Given the description of an element on the screen output the (x, y) to click on. 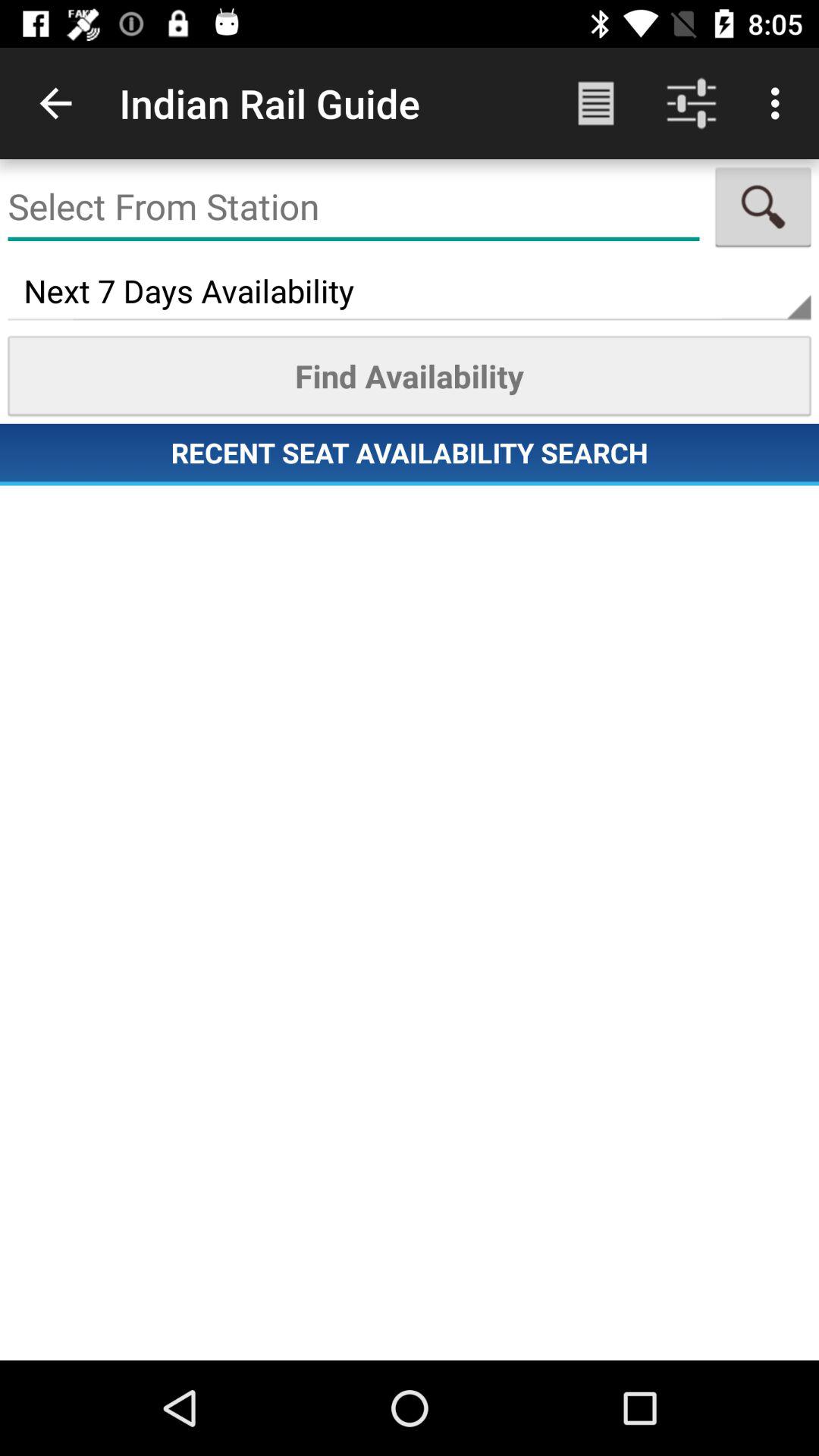
press the item above the next 7 days icon (353, 206)
